Given the description of an element on the screen output the (x, y) to click on. 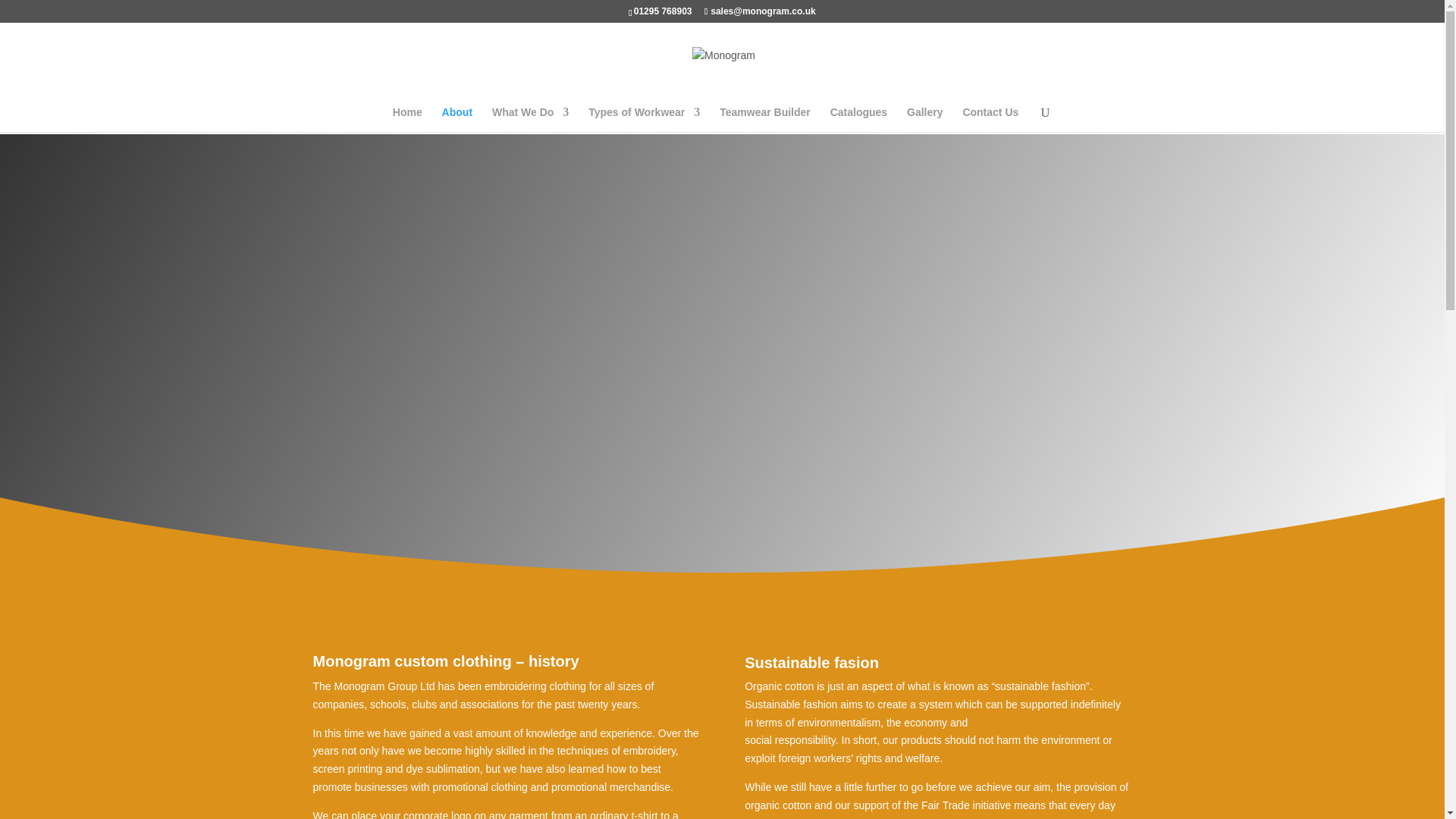
Teamwear Builder (764, 119)
Catalogues (857, 119)
Contact Us (989, 119)
What We Do (530, 119)
About (456, 119)
Types of Workwear (644, 119)
Home (407, 119)
Gallery (924, 119)
